Given the description of an element on the screen output the (x, y) to click on. 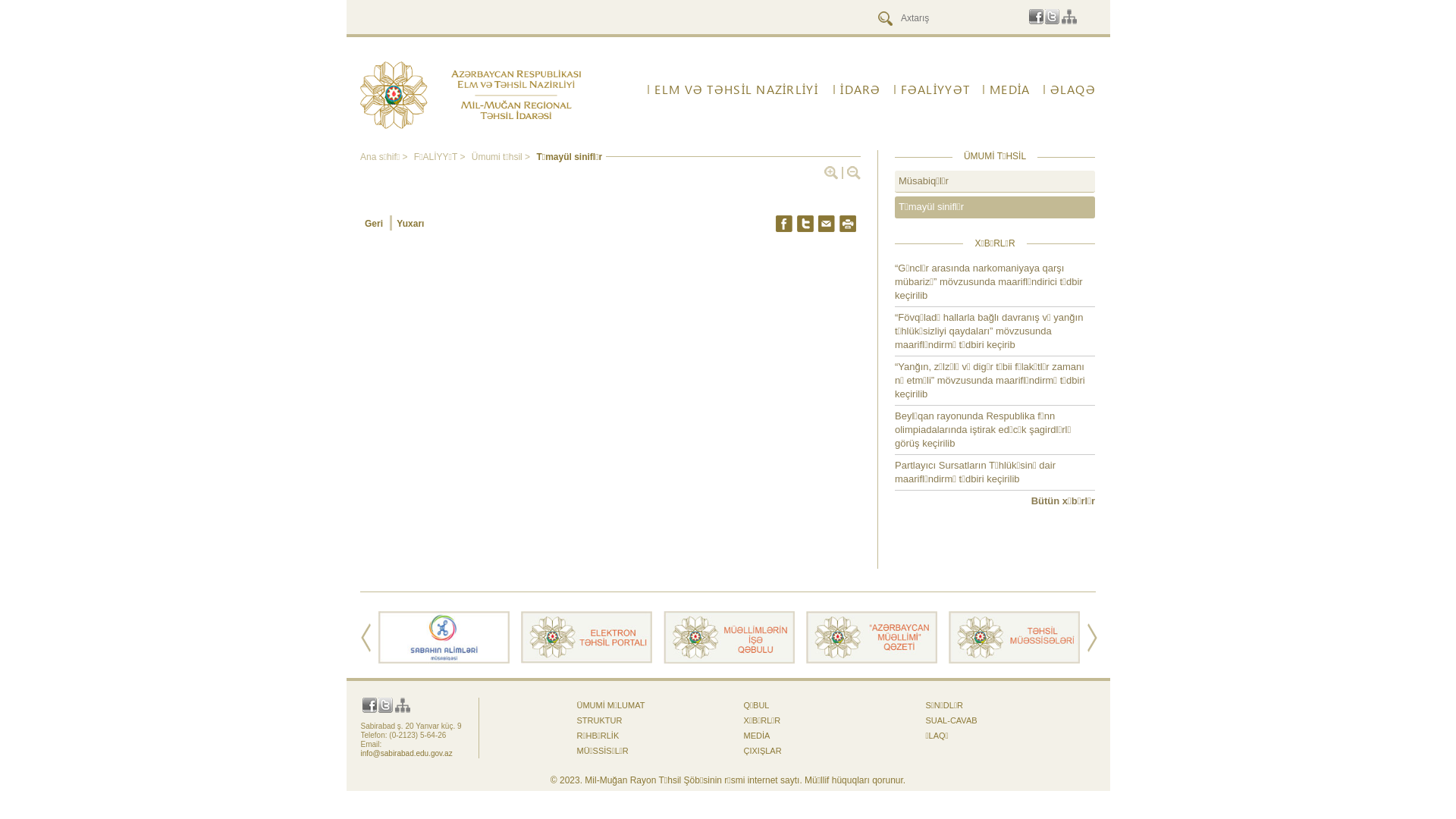
MEDIA Element type: text (756, 735)
Geri Element type: text (376, 222)
Prev Element type: text (365, 637)
STRUKTUR Element type: text (598, 719)
MEDIA Element type: text (1005, 89)
info@sabirabad.edu.gov.az Element type: text (406, 753)
SUAL-CAVAB Element type: text (950, 719)
Next Element type: text (1092, 637)
